Given the description of an element on the screen output the (x, y) to click on. 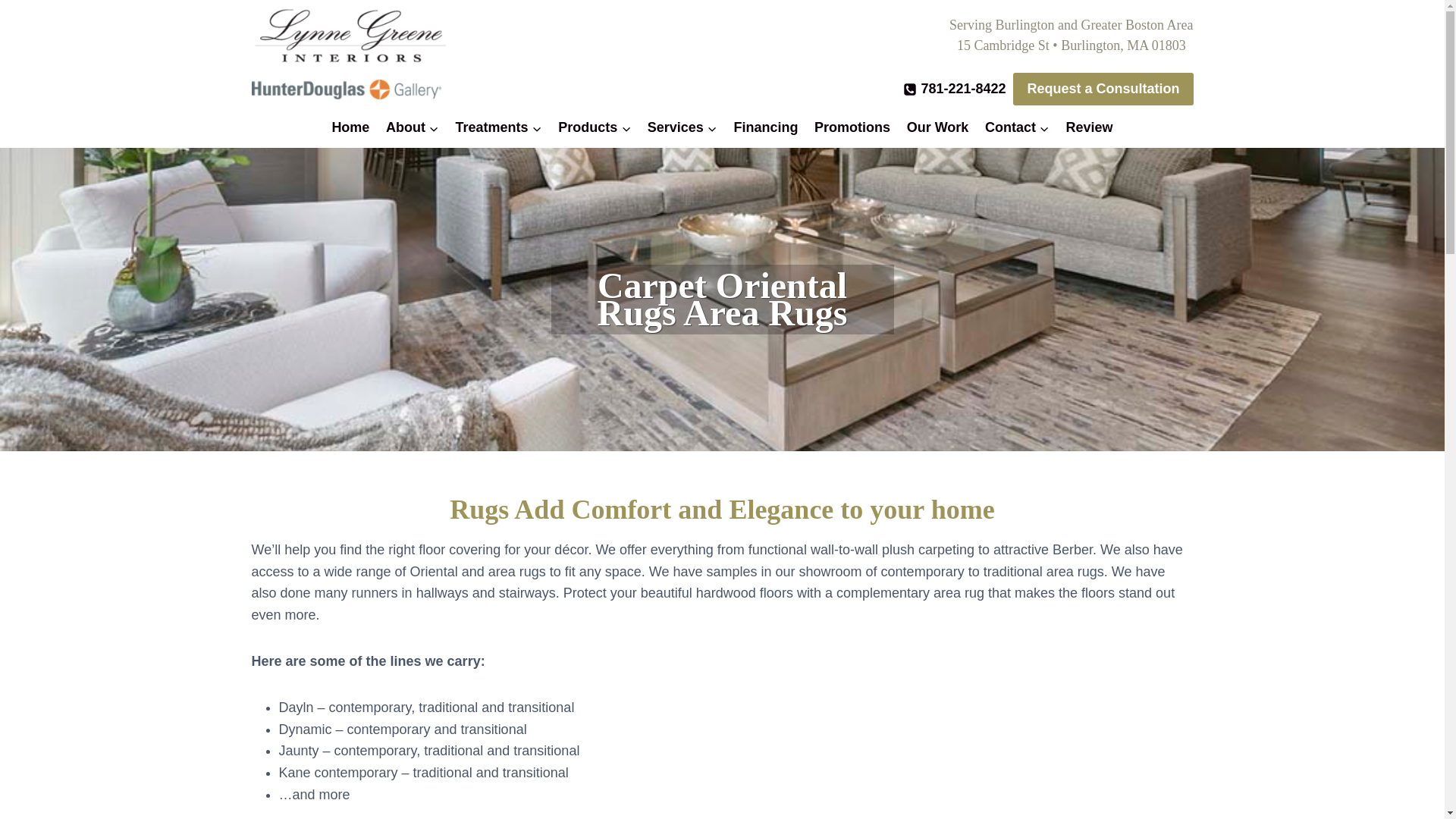
781-221-8422 (954, 88)
Request a Consultation (1102, 88)
Our Work (937, 127)
Contact (1017, 127)
About (411, 127)
Financing (765, 127)
Products (594, 127)
Treatments (498, 127)
Promotions (852, 127)
Home (350, 127)
